Given the description of an element on the screen output the (x, y) to click on. 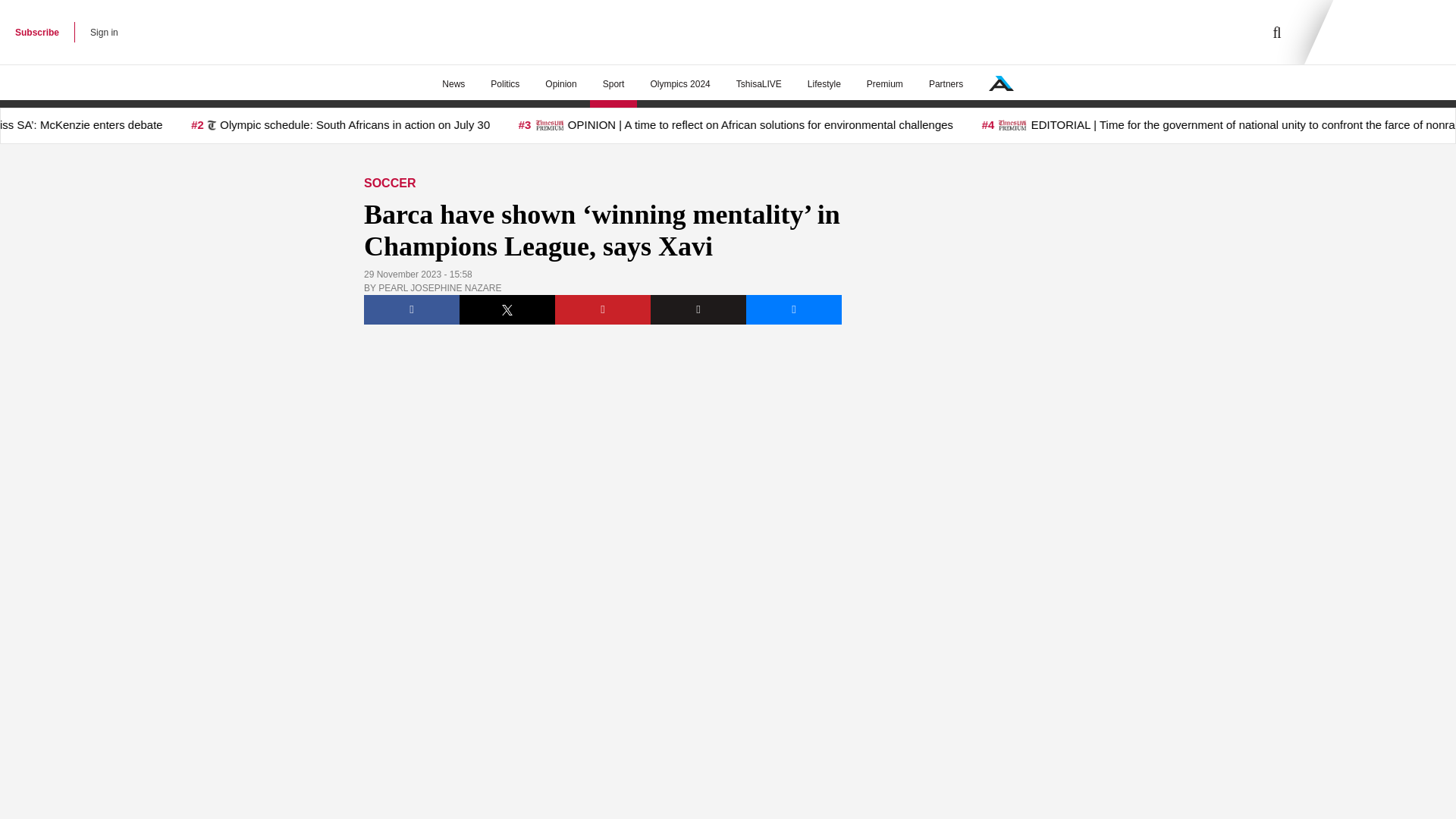
Sport (613, 84)
Sign in (103, 32)
News (453, 84)
Politics (504, 84)
Olympics 2024 (679, 84)
Subscribe (36, 32)
Lifestyle (823, 84)
Opinion (560, 84)
Our Network (1000, 83)
Premium (884, 84)
TshisaLIVE (758, 84)
Partners (945, 84)
